Given the description of an element on the screen output the (x, y) to click on. 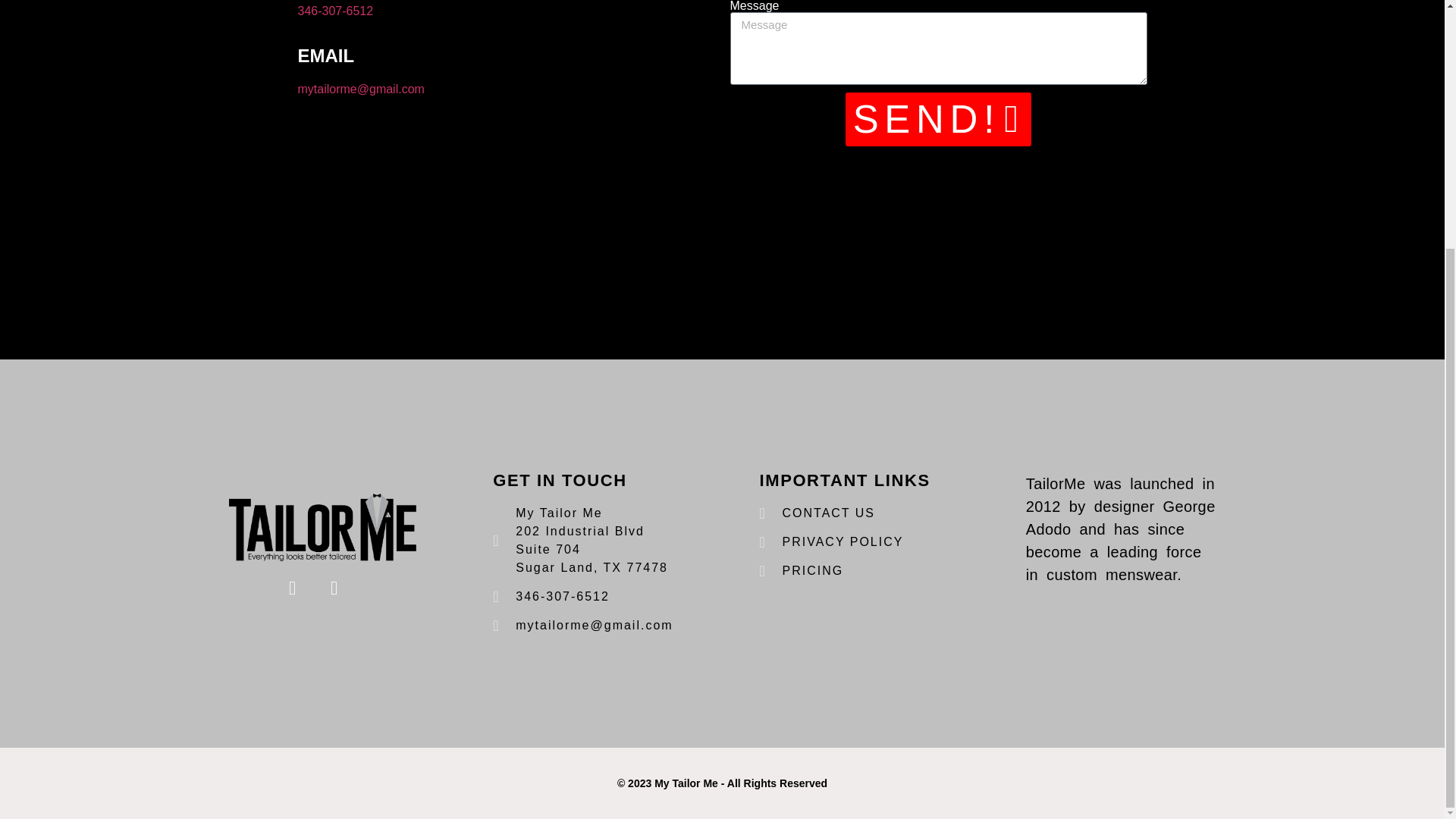
346-307-6512 (588, 597)
PRIVACY POLICY (856, 542)
346-307-6512 (334, 10)
CONTACT US (856, 513)
SEND! (938, 119)
PRICING (856, 570)
